Given the description of an element on the screen output the (x, y) to click on. 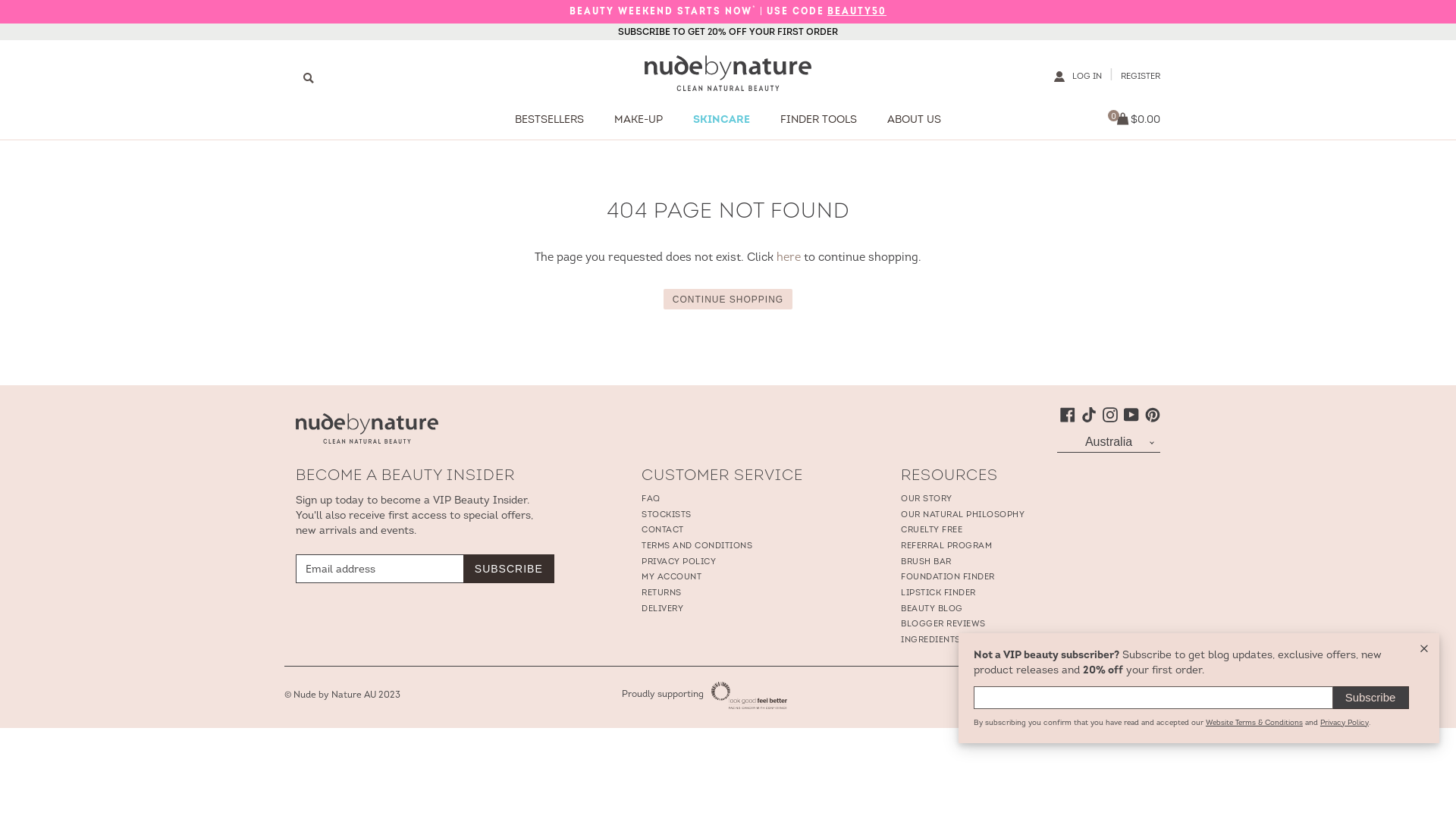
MY ACCOUNT Element type: text (671, 577)
BLOGGER REVIEWS Element type: text (942, 624)
RETURNS Element type: text (661, 593)
REFERRAL PROGRAM Element type: text (945, 546)
BRUSH BAR Element type: text (925, 562)
LOG IN Element type: text (1086, 76)
TERMS AND CONDITIONS Element type: text (696, 546)
SUBSCRIBE Element type: text (508, 568)
FOUNDATION FINDER Element type: text (947, 577)
FAQ Element type: text (650, 499)
Website Terms & Conditions Element type: text (1253, 722)
STOCKISTS Element type: text (666, 515)
PRIVACY POLICY Element type: text (678, 562)
BEAUTY BLOG Element type: text (931, 609)
DELIVERY Element type: text (662, 609)
FINDER TOOLS Element type: text (818, 118)
INGREDIENTS GLOSSARY Element type: text (955, 640)
MAKE-UP Element type: text (638, 118)
ABOUT US Element type: text (914, 118)
Privacy Policy Element type: text (1344, 722)
OUR STORY Element type: text (926, 499)
CRUELTY FREE Element type: text (931, 530)
OUR NATURAL PHILOSOPHY Element type: text (962, 515)
BEAUTY50 Element type: text (856, 11)
LIPSTICK FINDER Element type: text (937, 593)
CONTACT Element type: text (662, 530)
here Element type: text (788, 257)
BESTSELLERS Element type: text (549, 118)
REGISTER Element type: text (1140, 76)
SKINCARE Element type: text (721, 118)
0
$0.00 Element type: text (1133, 119)
Search Element type: text (308, 77)
Subscribe Element type: text (1370, 697)
CONTINUE SHOPPING Element type: text (727, 298)
